Given the description of an element on the screen output the (x, y) to click on. 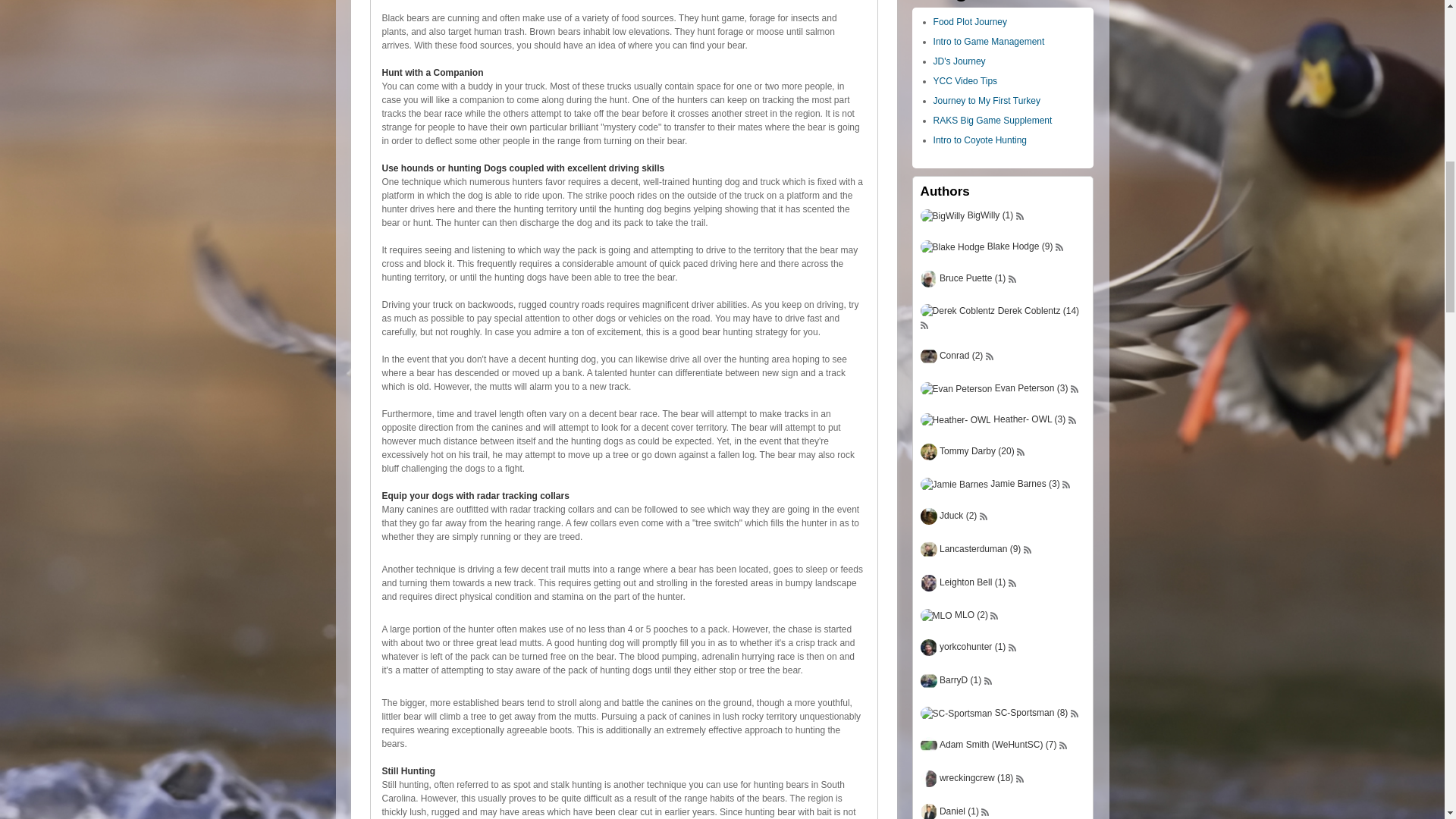
WeHuntSC.com - Intro to Game Management (989, 41)
Video Blog Series - Intro to Coyote Hunting (979, 140)
Journey to My First Turkey (987, 100)
YCC Video Tips (965, 81)
RAKS Big Game Supplement (992, 120)
WeHuntSC.com - Food Plot Journey (970, 21)
JD's Journey (959, 61)
